Given the description of an element on the screen output the (x, y) to click on. 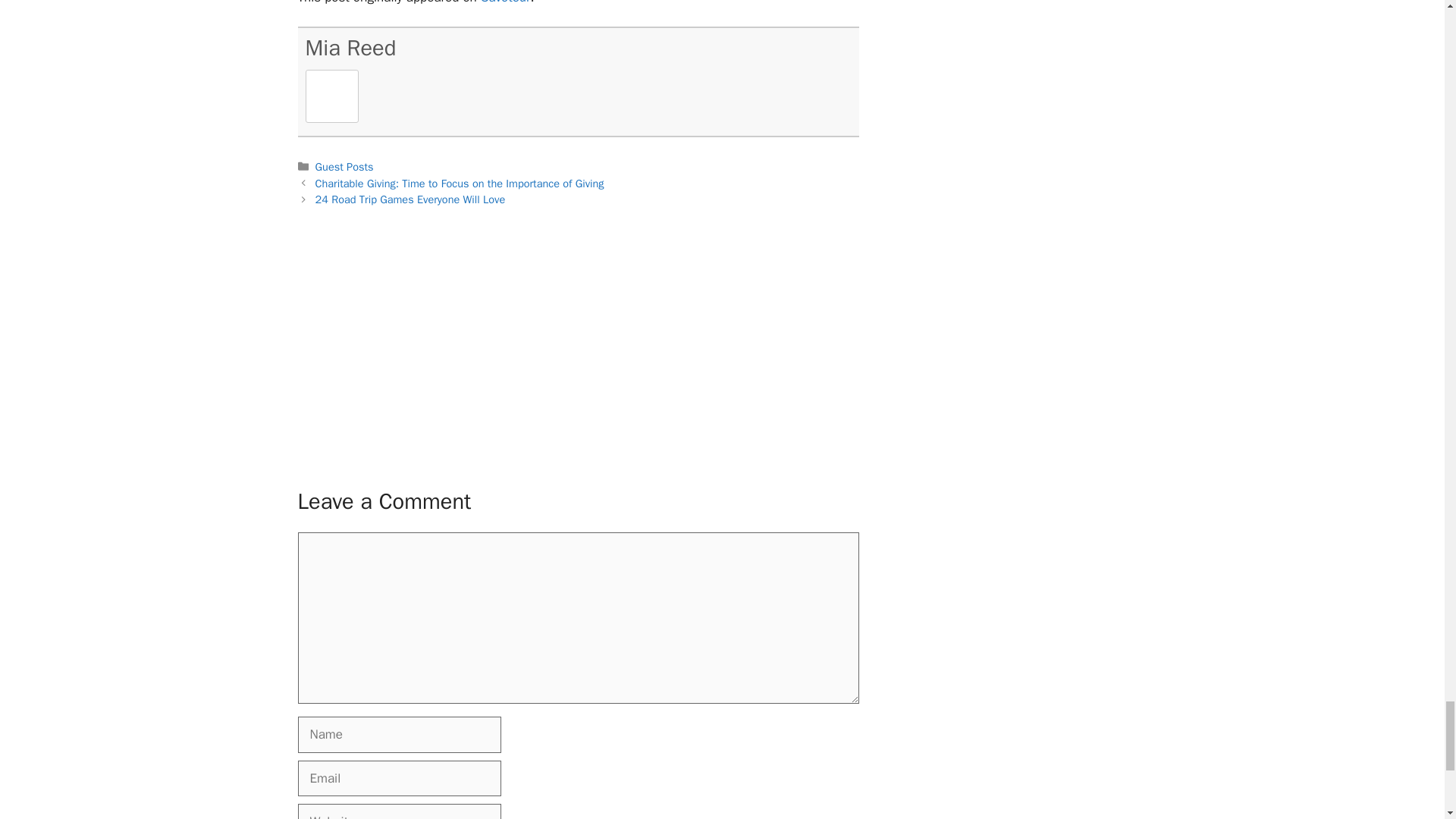
Savoteur (505, 2)
Charitable Giving: Time to Focus on the Importance of Giving (459, 183)
24 Road Trip Games Everyone Will Love (410, 199)
Guest Posts (344, 166)
Mia Reed (350, 48)
All posts by Mia Reed (350, 48)
